Given the description of an element on the screen output the (x, y) to click on. 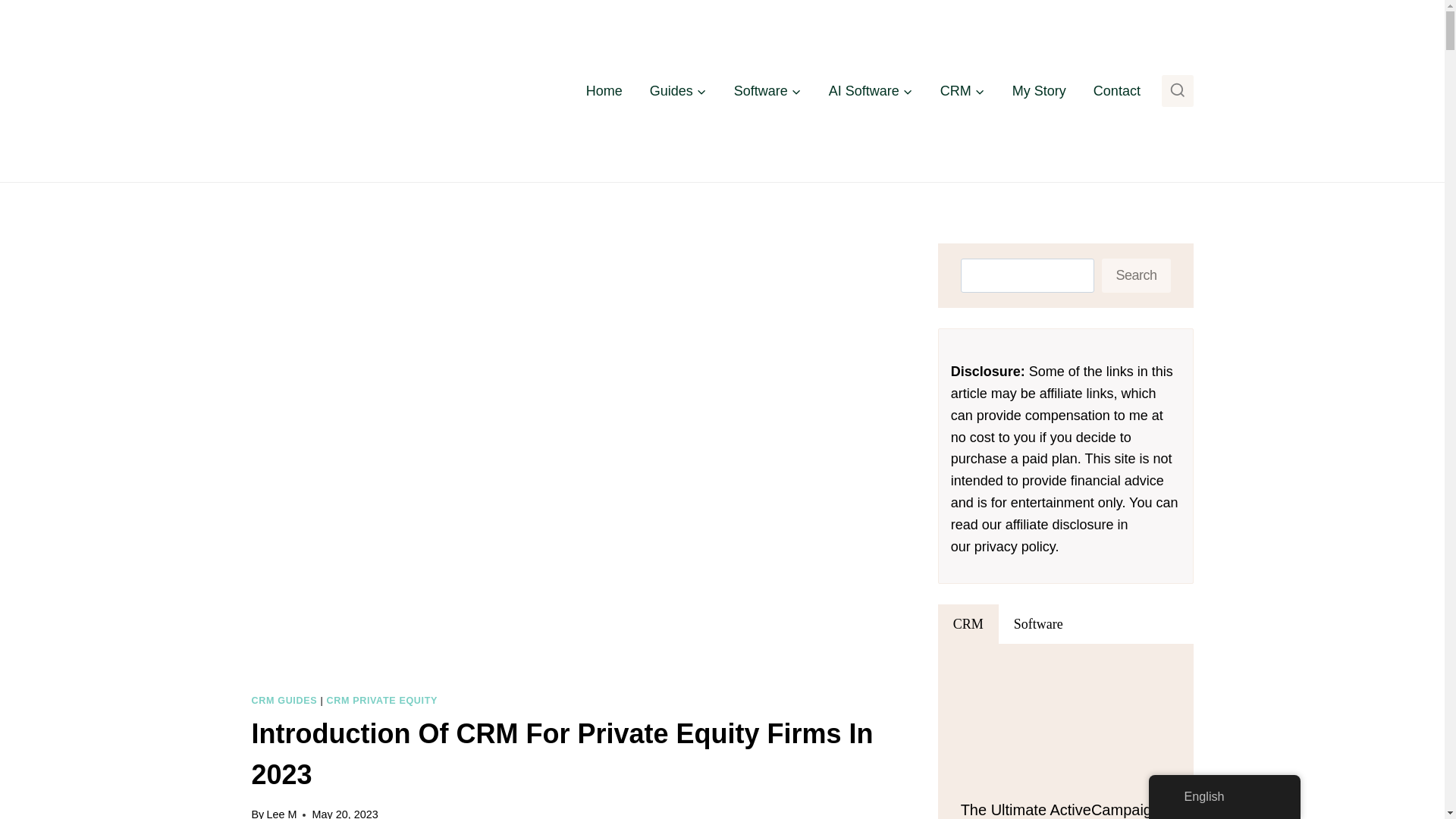
Lee M (281, 813)
Software (767, 90)
Contact (1117, 90)
CRM (962, 90)
Guides (678, 90)
CRM PRIVATE EQUITY (382, 700)
Home (604, 90)
AI Software (870, 90)
CRM GUIDES (284, 700)
My Story (1039, 90)
